Given the description of an element on the screen output the (x, y) to click on. 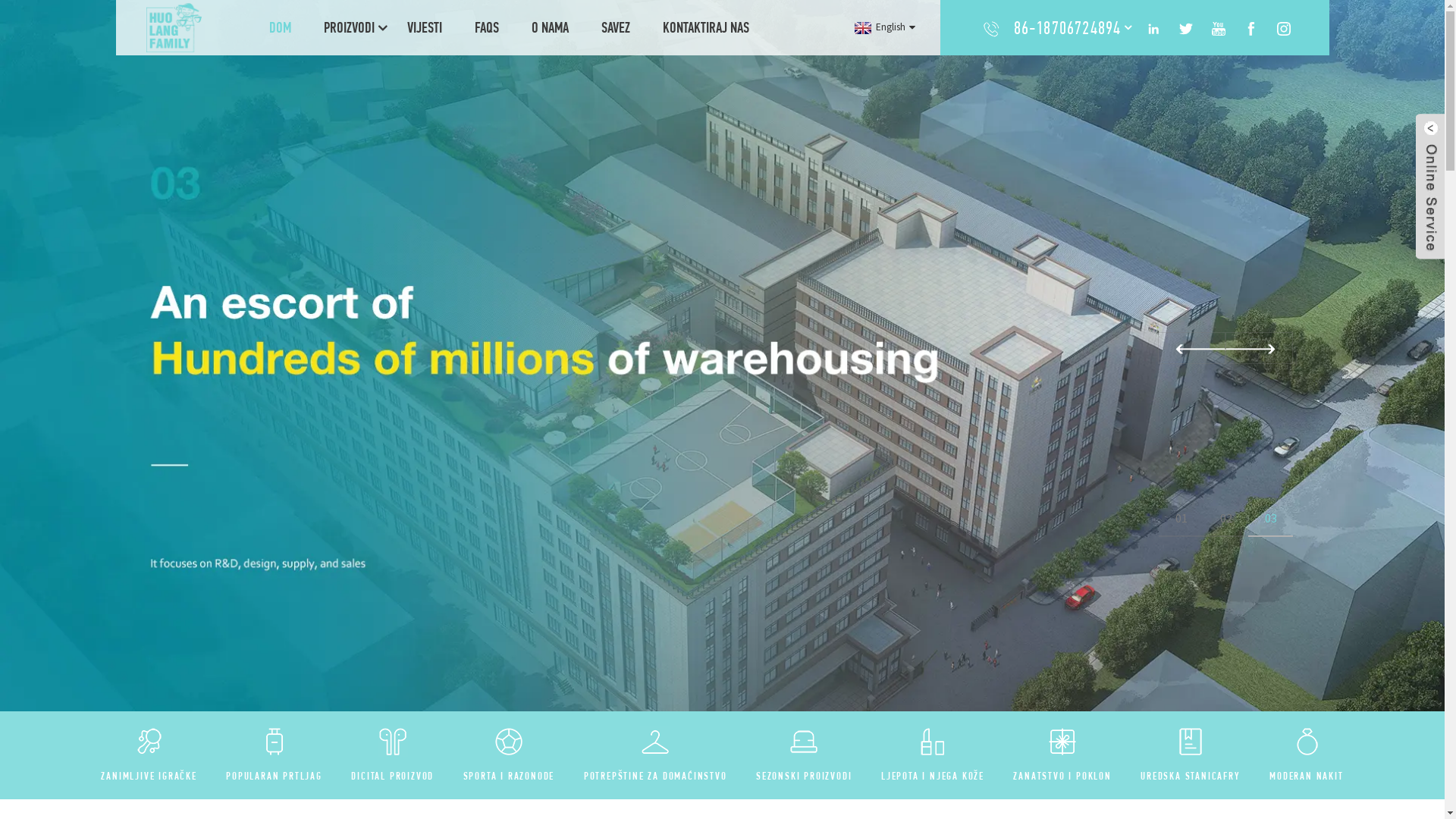
FAQS Element type: text (486, 26)
VIJESTI Element type: text (424, 26)
SPORTA I RAZONODE Element type: text (509, 775)
86-19858928898 Element type: text (1067, 61)
UREDSKA STANICAFRY Element type: text (1189, 775)
86-18706724894 Element type: text (1067, 27)
SEZONSKI PROIZVODI Element type: text (803, 775)
KONTAKTIRAJ NAS Element type: text (705, 26)
POPULARAN PRTLJAG Element type: text (273, 775)
DICITAL PROIZVOD Element type: text (392, 775)
O NAMA Element type: text (549, 26)
ZANATSTVO I POKLON Element type: text (1061, 775)
DOM Element type: text (280, 26)
PROIZVODI Element type: text (348, 26)
English Element type: text (882, 27)
MODERAN NAKIT Element type: text (1306, 775)
SAVEZ Element type: text (615, 26)
